Given the description of an element on the screen output the (x, y) to click on. 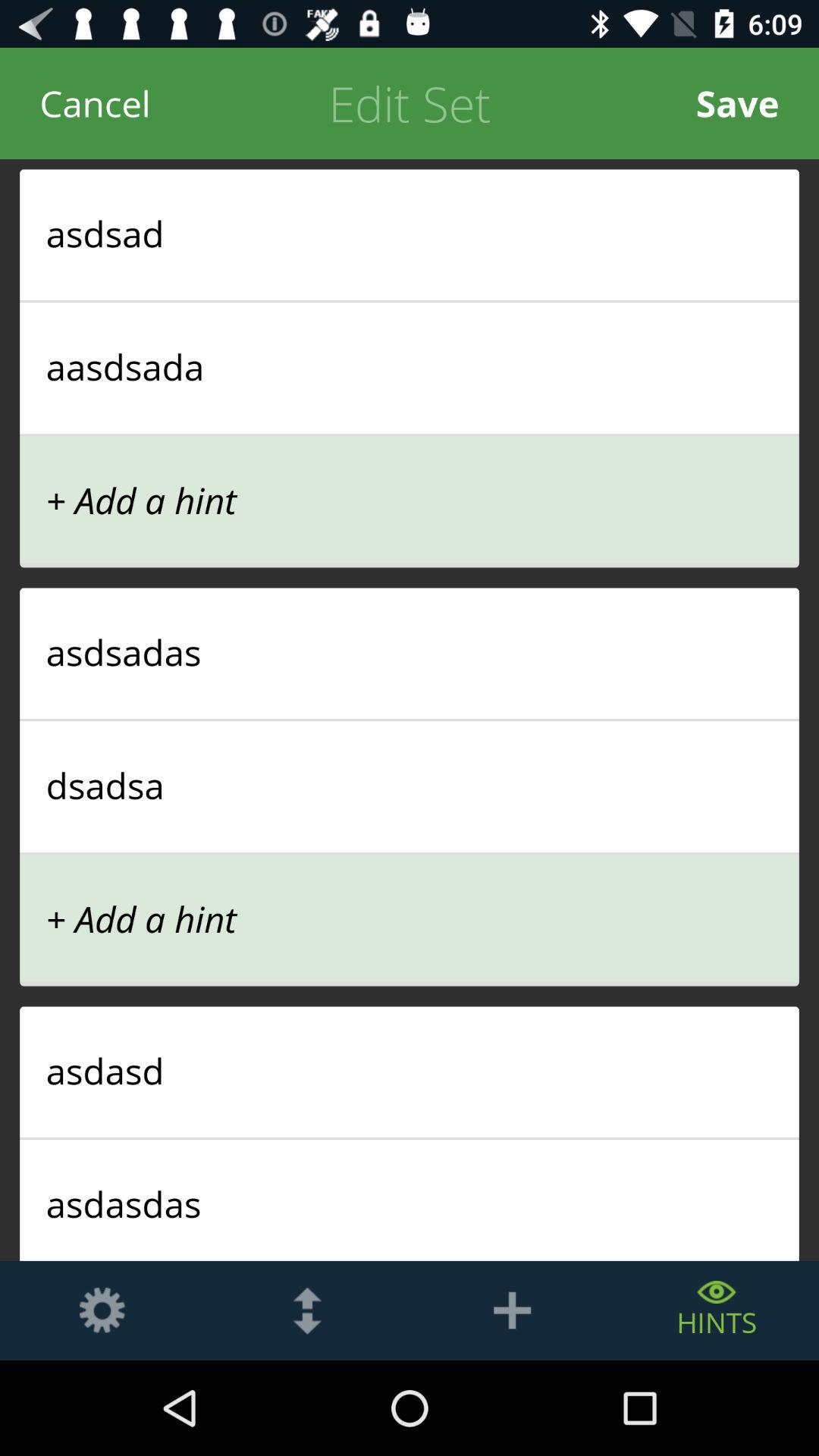
turn on cancel (95, 103)
